Given the description of an element on the screen output the (x, y) to click on. 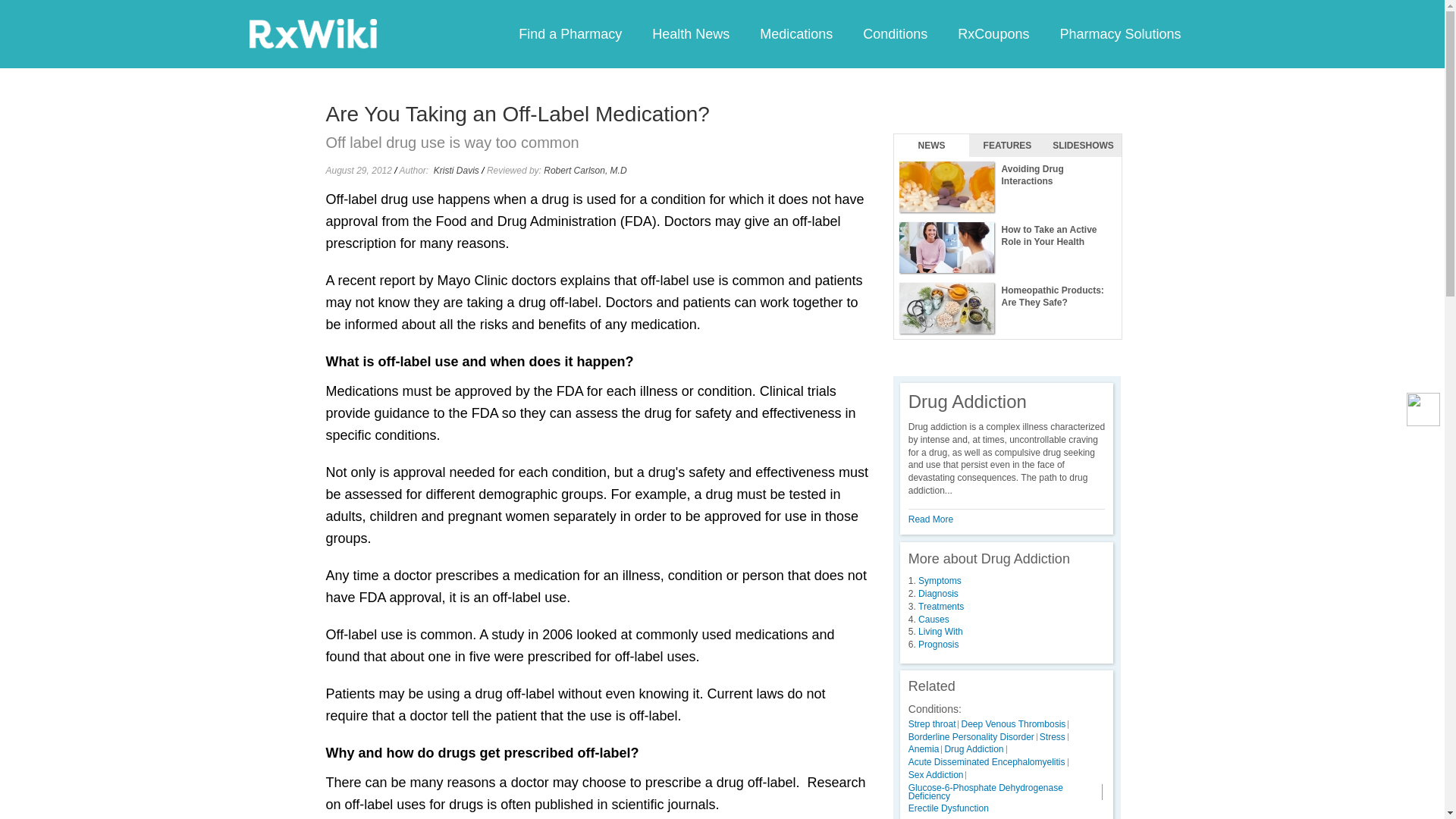
Read More (930, 519)
Homeopathic Products: Are They Safe? (1007, 308)
Find a Pharmacy (570, 33)
Kristi Davis (456, 170)
Medications (795, 33)
How to Take an Active Role in Your Health (1007, 247)
RxWiki (312, 32)
Avoiding Drug Interactions (1007, 187)
NEWS (931, 145)
Pharmacy Solutions (1119, 33)
Symptoms (939, 580)
Conditions (894, 33)
Health News (690, 33)
RxCoupons (992, 33)
Robert Carlson, M.D (584, 170)
